Given the description of an element on the screen output the (x, y) to click on. 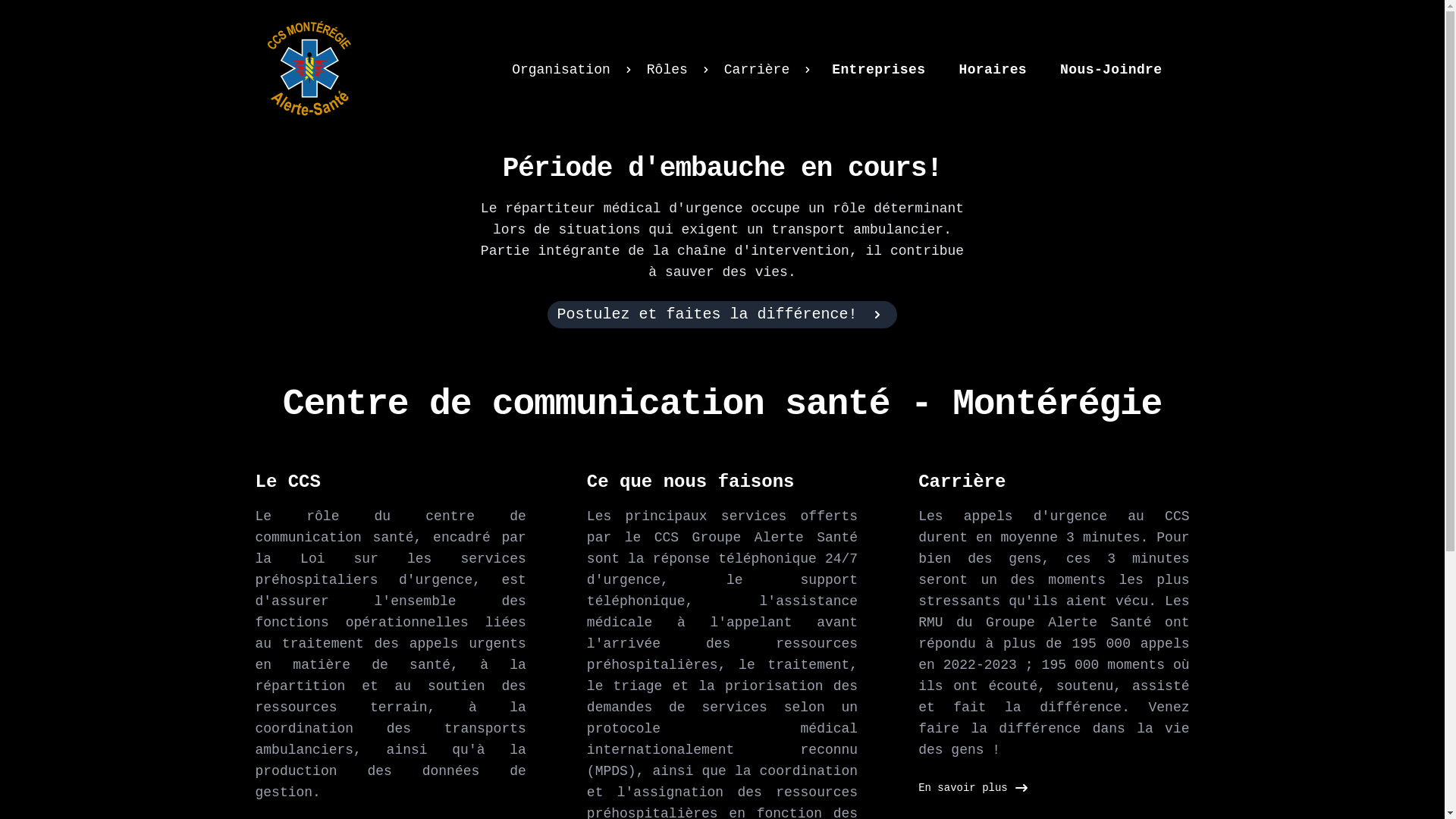
Entreprises Element type: text (878, 69)
Horaires Element type: text (992, 69)
En savoir plus Element type: text (972, 787)
Nous-Joindre Element type: text (1110, 69)
Organisation Element type: text (572, 69)
